Given the description of an element on the screen output the (x, y) to click on. 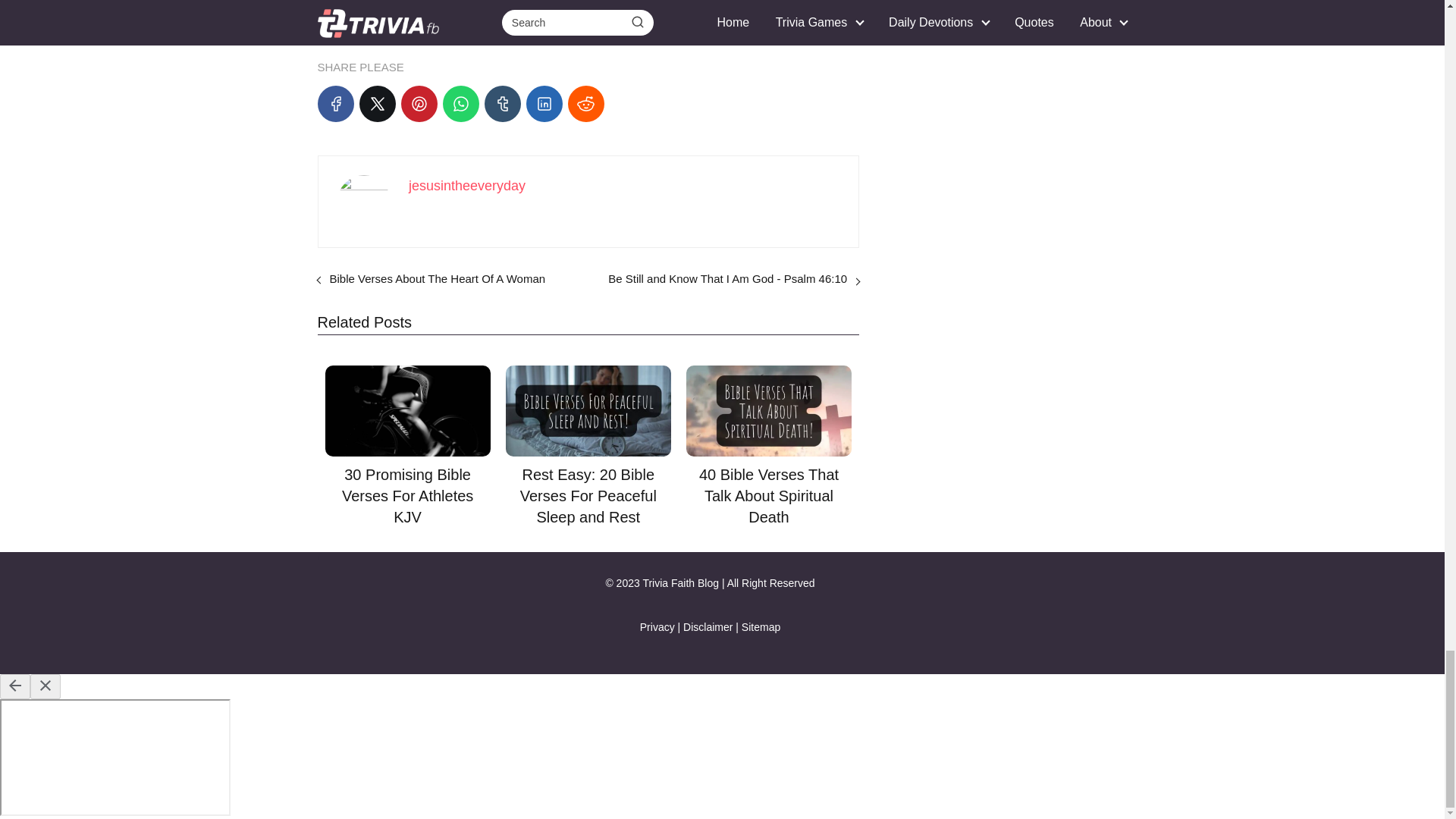
Reddit (585, 103)
LinkedIn (543, 103)
WhatsApp (460, 103)
Facebook (335, 103)
Pinterest (418, 103)
X (377, 103)
Tumblr (501, 103)
